Given the description of an element on the screen output the (x, y) to click on. 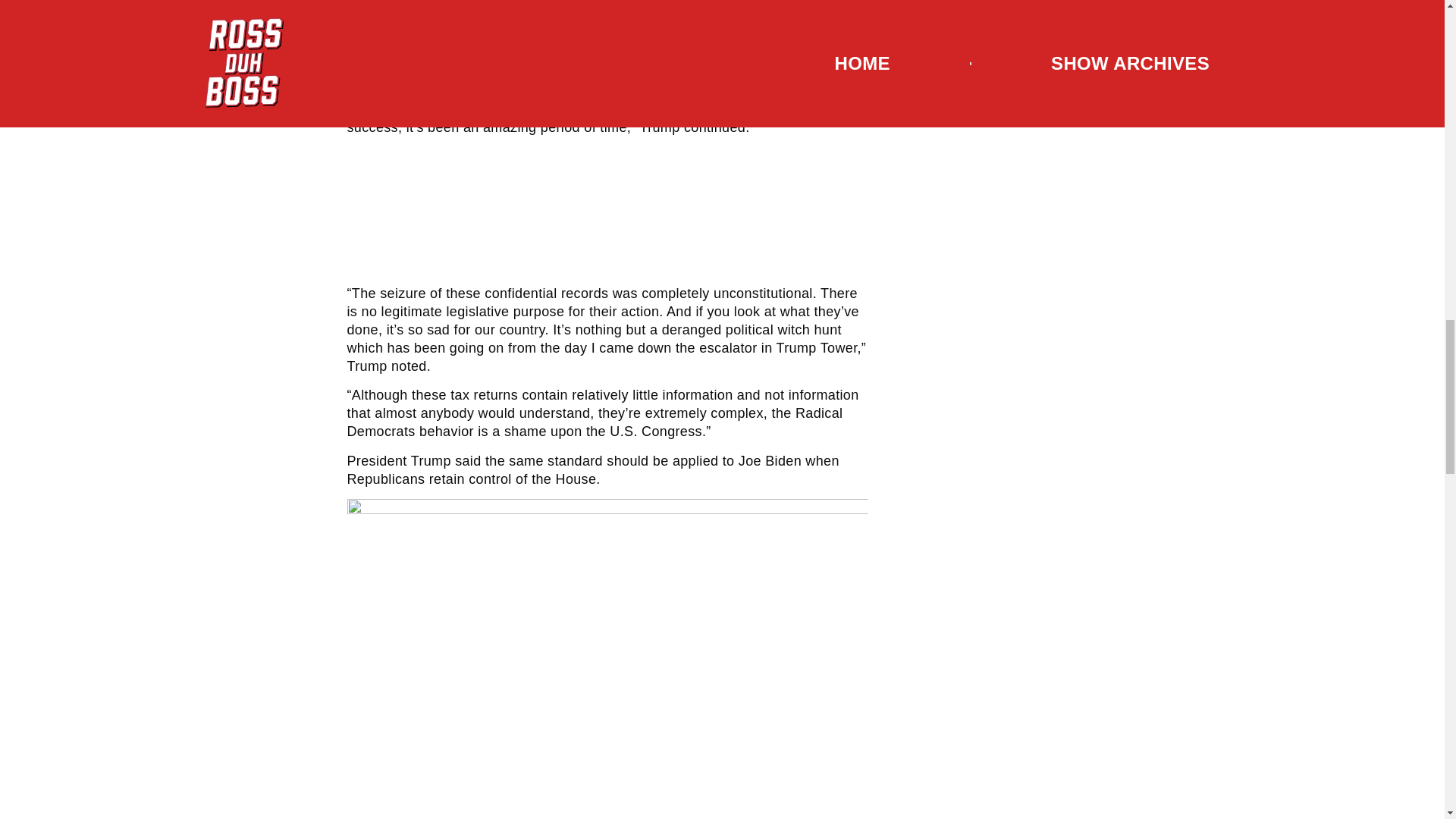
Advertisement (607, 213)
December 23, 2022 (657, 25)
